Given the description of an element on the screen output the (x, y) to click on. 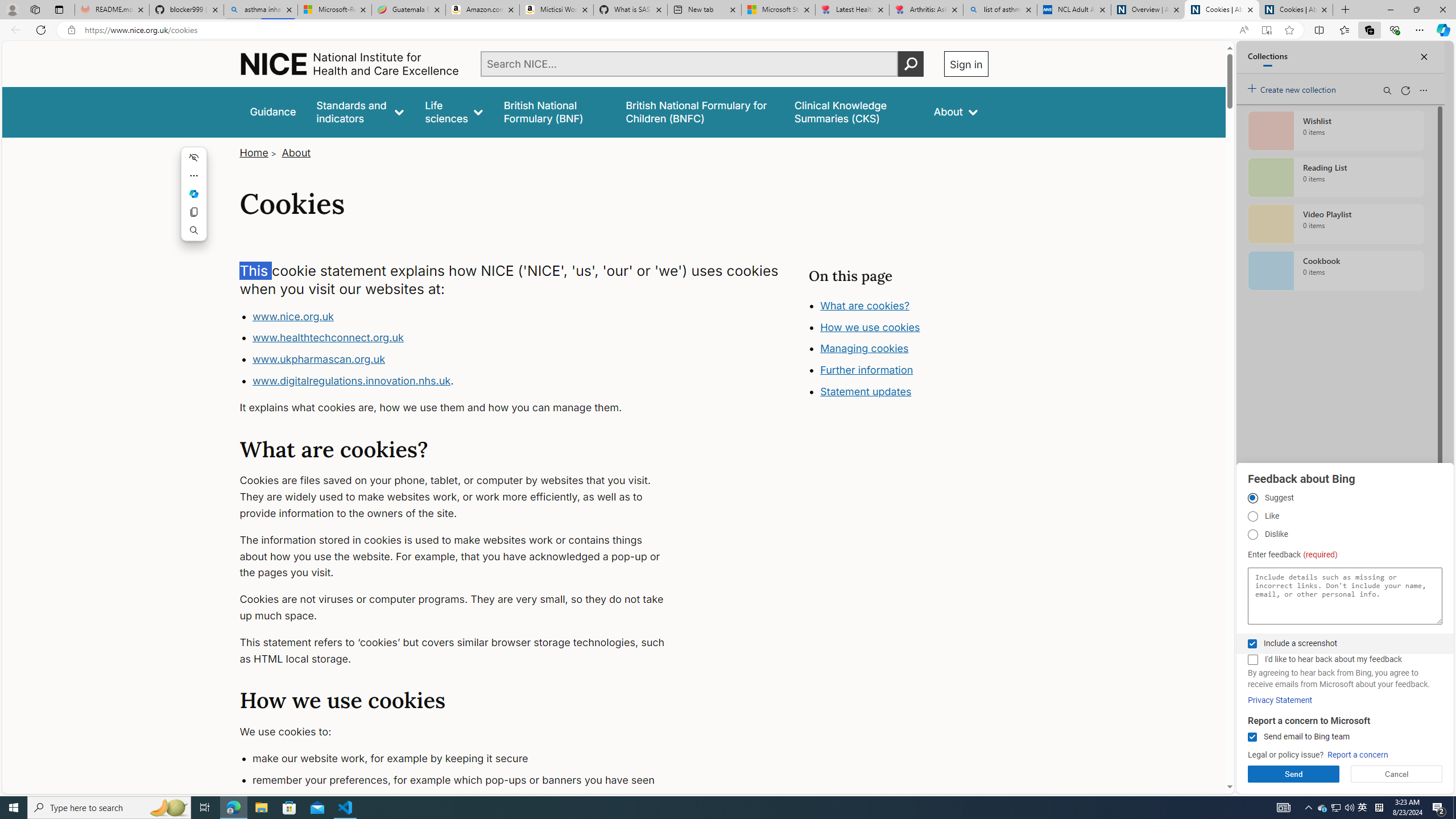
About (955, 111)
How we use cookies (869, 327)
www.digitalregulations.innovation.nhs.uk (351, 380)
Further information (865, 369)
www.ukpharmascan.org.uk (464, 359)
About (296, 152)
About (296, 152)
Mini menu on text selection (194, 193)
